Given the description of an element on the screen output the (x, y) to click on. 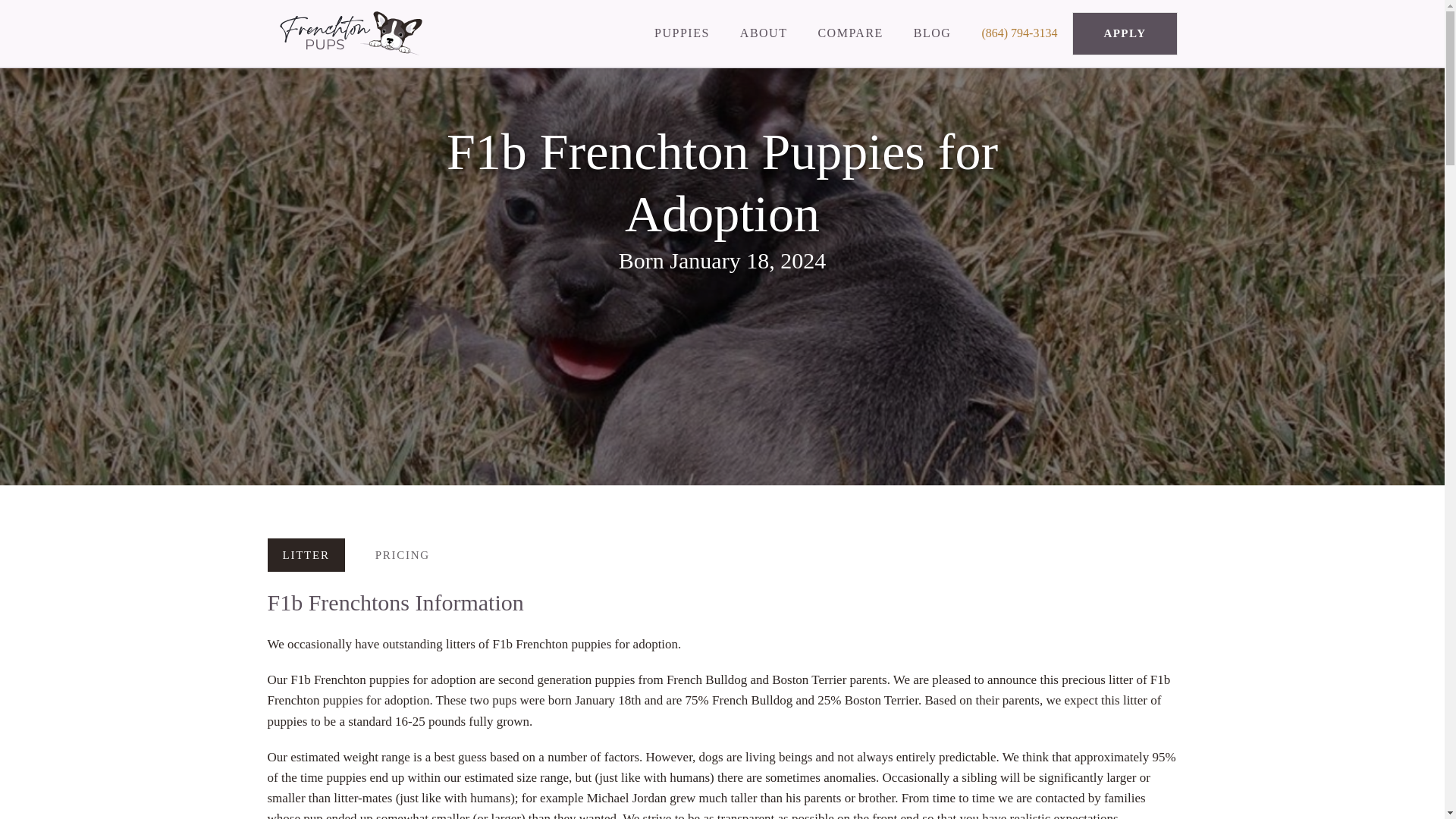
ABOUT (764, 33)
BLOG (932, 33)
PUPPIES (682, 33)
APPLY (1123, 33)
COMPARE (850, 33)
